Given the description of an element on the screen output the (x, y) to click on. 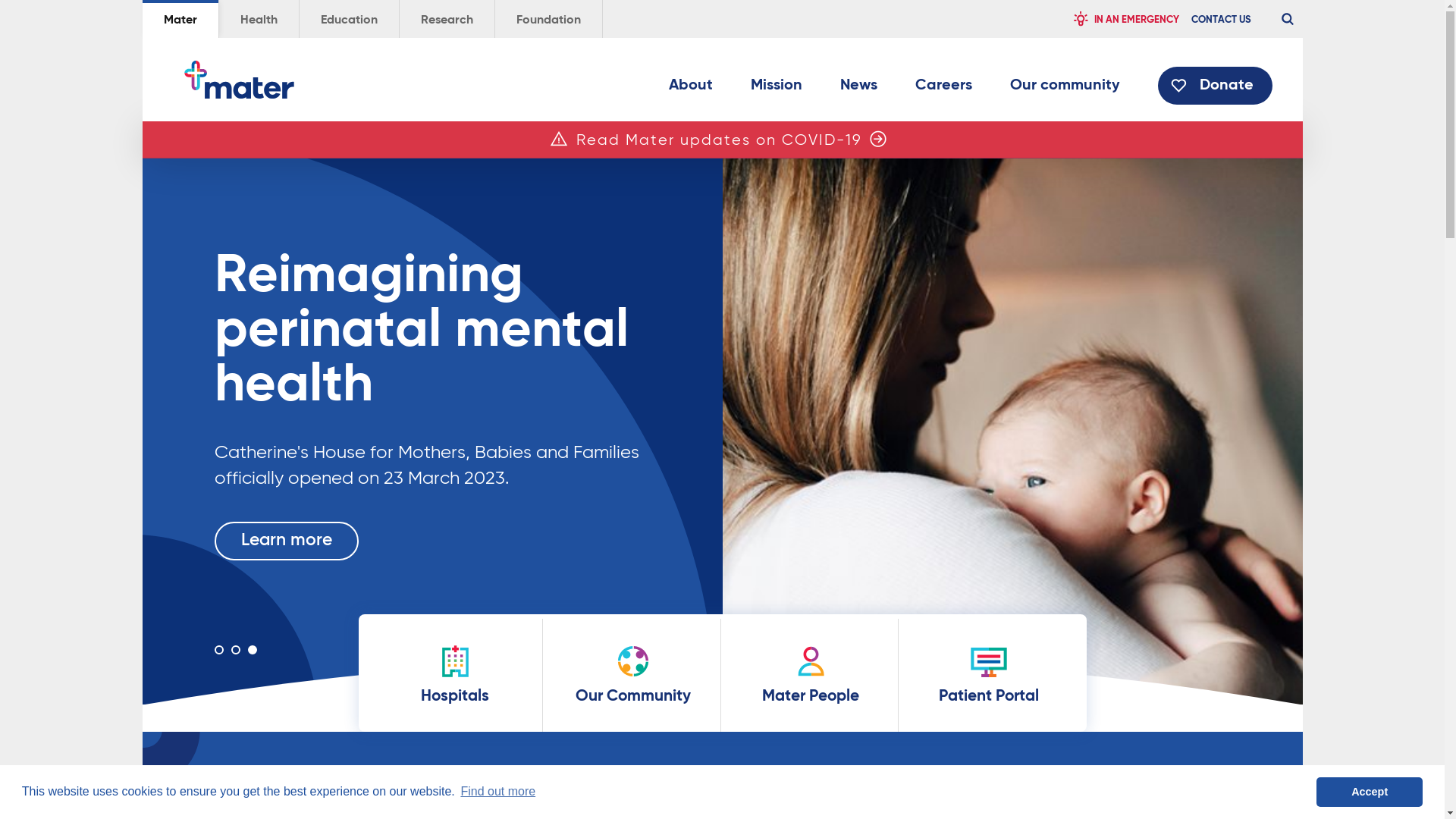
Patient Portal Element type: text (988, 672)
IN AN EMERGENCY Element type: text (1124, 18)
Mater Element type: hover (238, 79)
Education Element type: text (348, 18)
Read Mater updates on COVID-19 Element type: text (719, 140)
Mater Element type: text (180, 18)
Mission Element type: text (776, 89)
CONTACT US Element type: text (1220, 18)
Our Community Element type: text (632, 674)
Hospitals Element type: text (455, 674)
Find out more Element type: text (497, 791)
About Element type: text (690, 89)
Donate Element type: text (1214, 85)
Accept Element type: text (1369, 791)
Health Element type: text (258, 18)
Our community Element type: text (1065, 89)
Find out more Element type: text (295, 537)
1 Element type: text (217, 648)
Foundation Element type: text (547, 18)
Research Element type: text (445, 18)
3 Element type: text (251, 648)
Careers Element type: text (942, 89)
News Element type: text (858, 89)
Mater People Element type: text (810, 674)
2 Element type: text (234, 648)
